Given the description of an element on the screen output the (x, y) to click on. 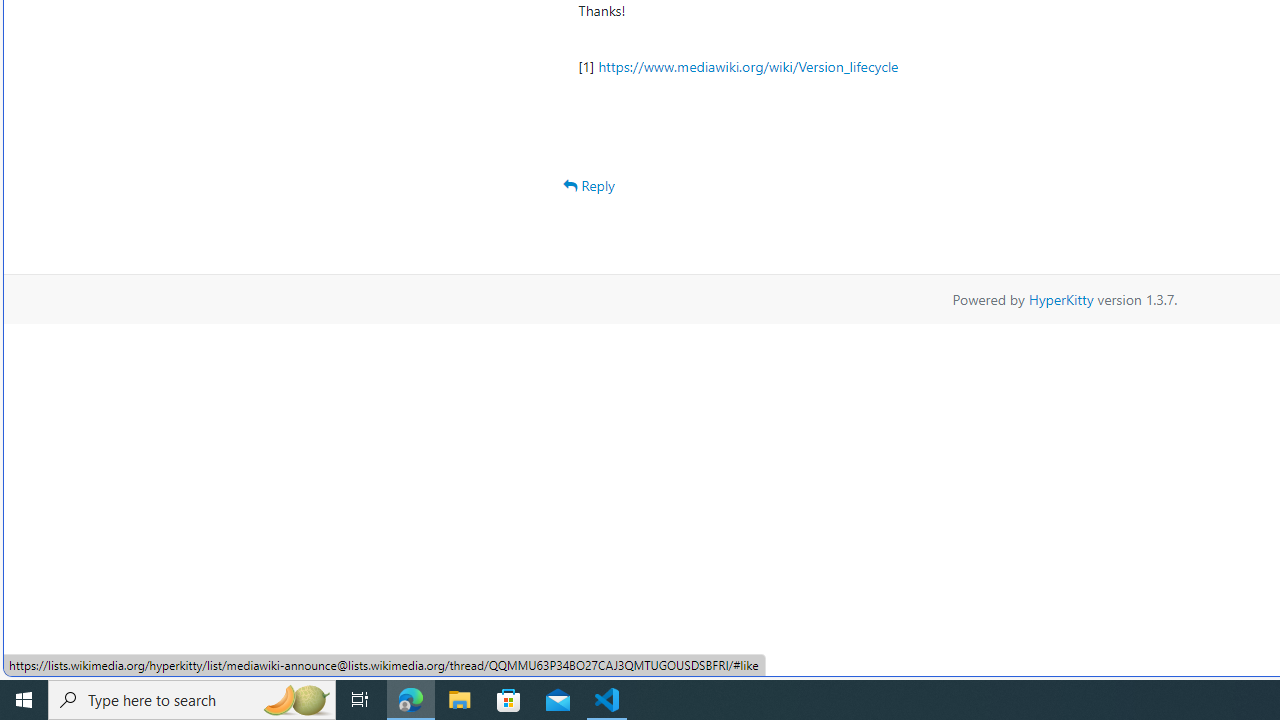
https://www.mediawiki.org/wiki/Version_lifecycle (747, 66)
HyperKitty (1060, 298)
